Given the description of an element on the screen output the (x, y) to click on. 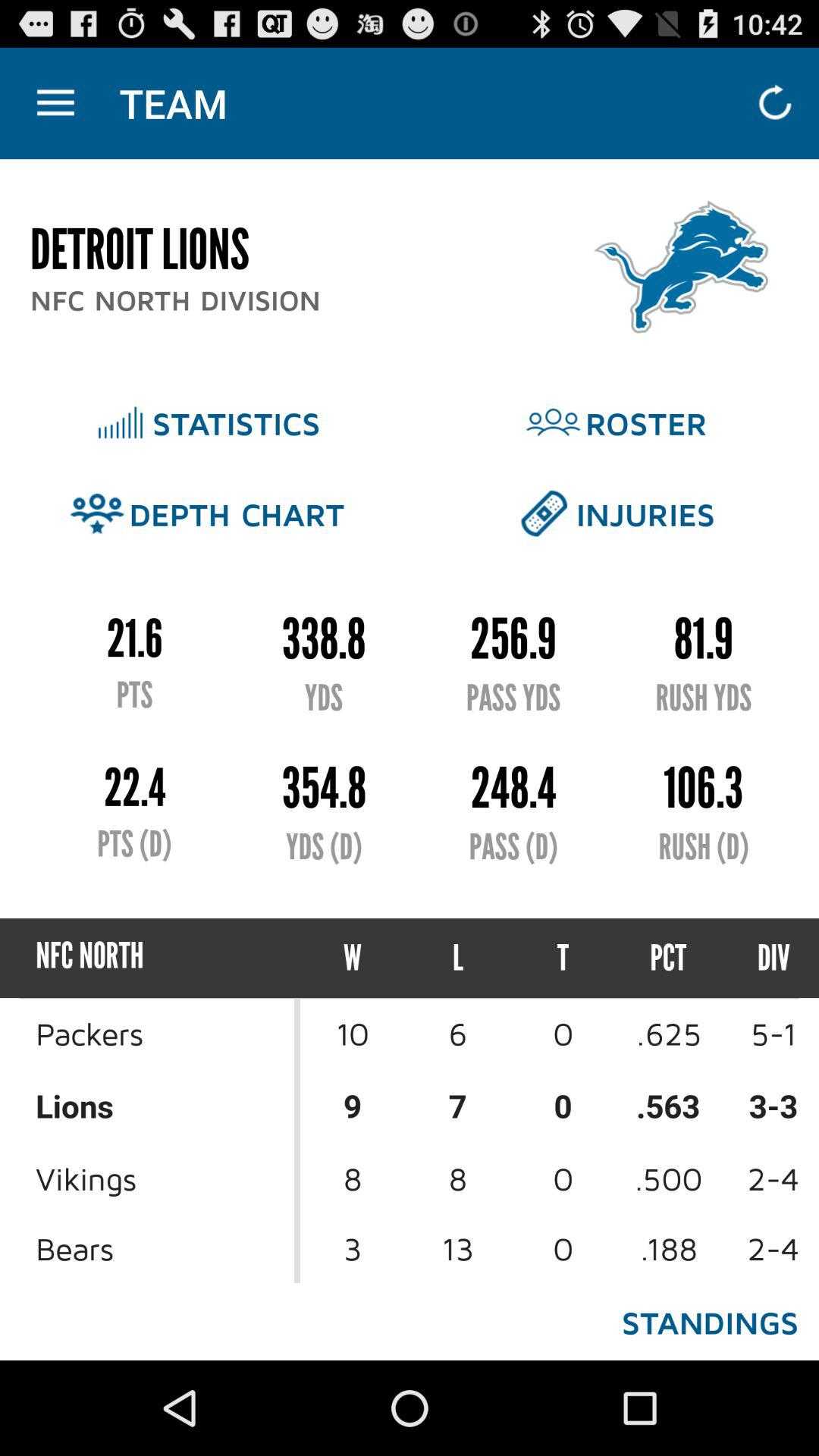
tap the item next to w icon (457, 958)
